Given the description of an element on the screen output the (x, y) to click on. 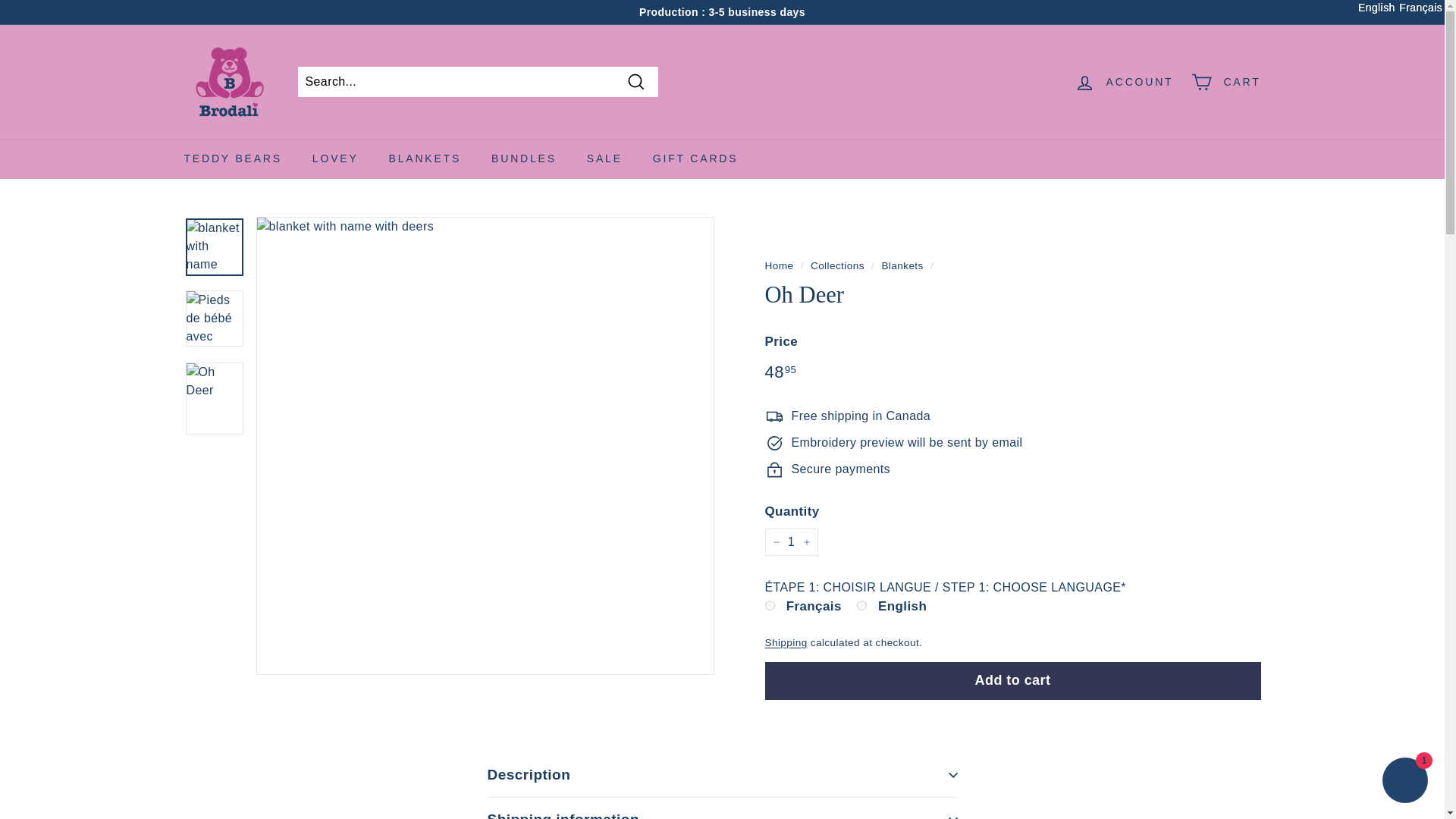
TEDDY BEARS (232, 158)
LOVEY (335, 158)
ACCOUNT (1123, 81)
SALE (604, 158)
Back to the frontpage (778, 265)
English (861, 605)
1 (790, 542)
BUNDLES (524, 158)
BLANKETS (425, 158)
GIFT CARDS (695, 158)
Home (778, 265)
